Given the description of an element on the screen output the (x, y) to click on. 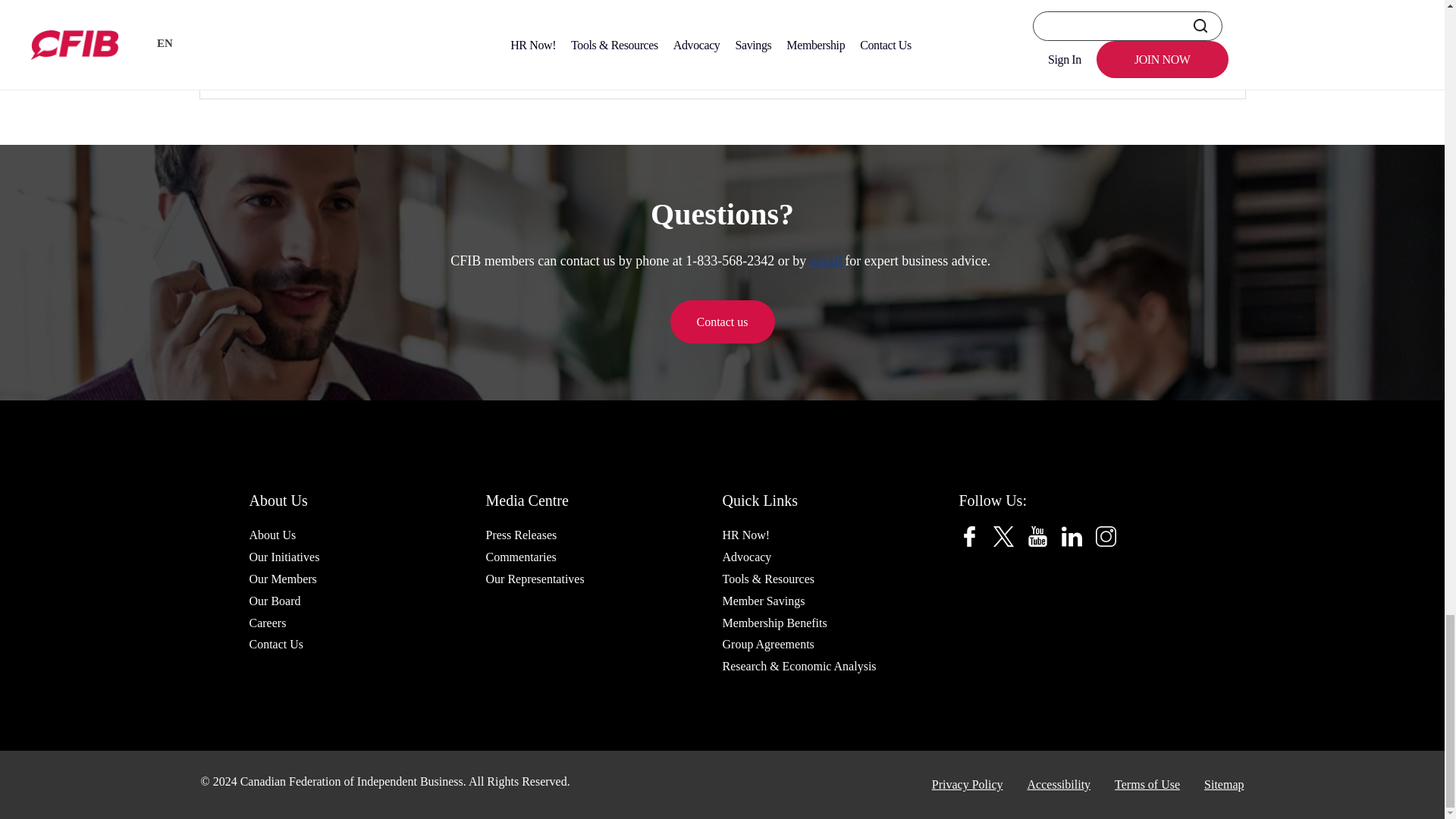
Contact Us (275, 643)
email (827, 260)
Careers (266, 622)
About Us (271, 534)
Contact us (721, 321)
Press Releases (520, 534)
Our Board (273, 600)
Our Members (281, 578)
Our Initiatives (283, 556)
